Given the description of an element on the screen output the (x, y) to click on. 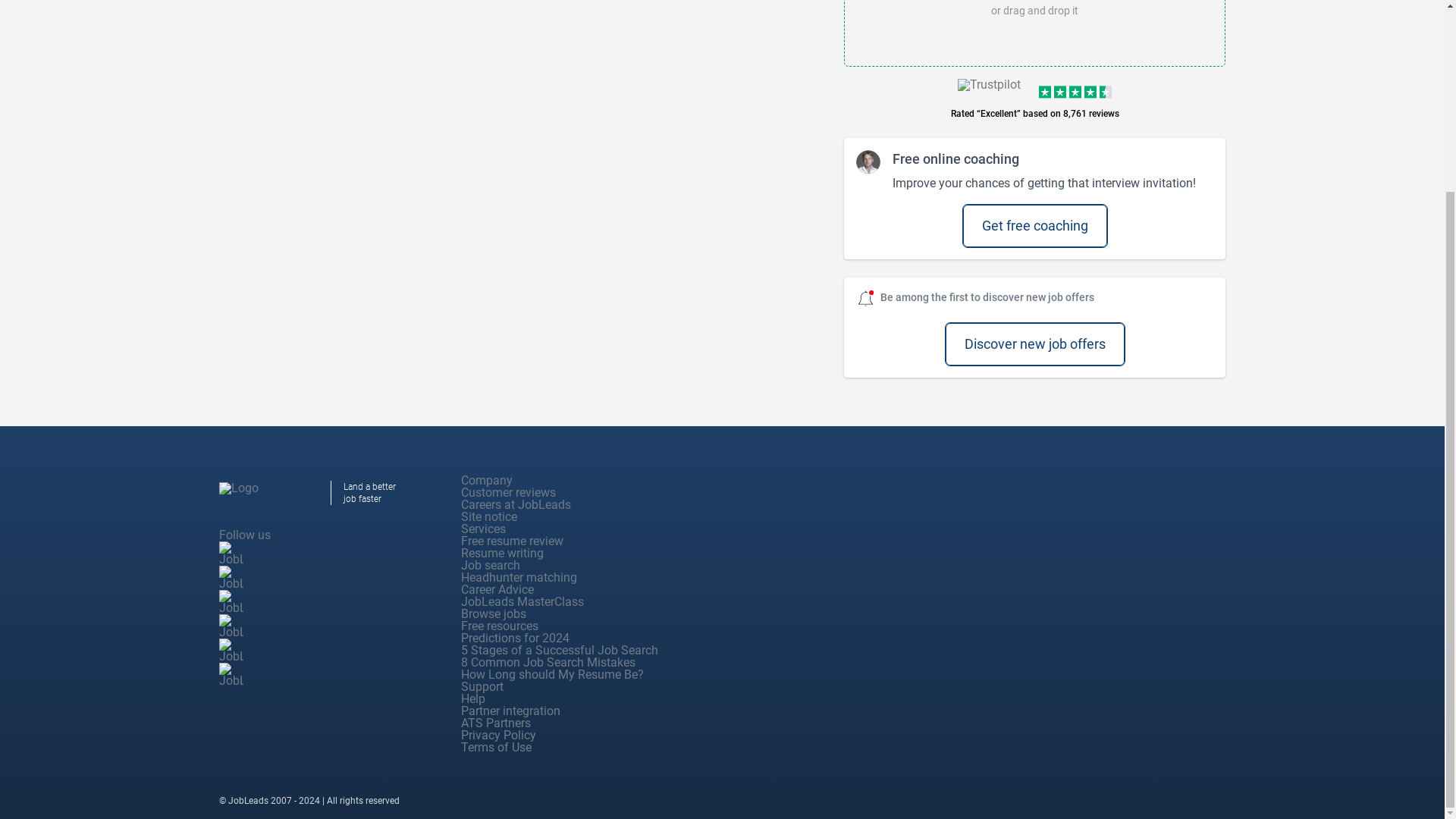
Career Advice (497, 589)
Terms of Use (496, 747)
Get free coaching (1034, 225)
Browse jobs (493, 613)
ATS Partners (496, 722)
Partner integration (510, 710)
Privacy Policy (498, 735)
Job search (490, 564)
5 Stages of a Successful Job Search (559, 649)
Free resume review (512, 540)
Discover new job offers (1034, 343)
8 Common Job Search Mistakes (547, 662)
Careers at JobLeads (515, 504)
How Long should My Resume Be? (552, 674)
Customer reviews (508, 492)
